Given the description of an element on the screen output the (x, y) to click on. 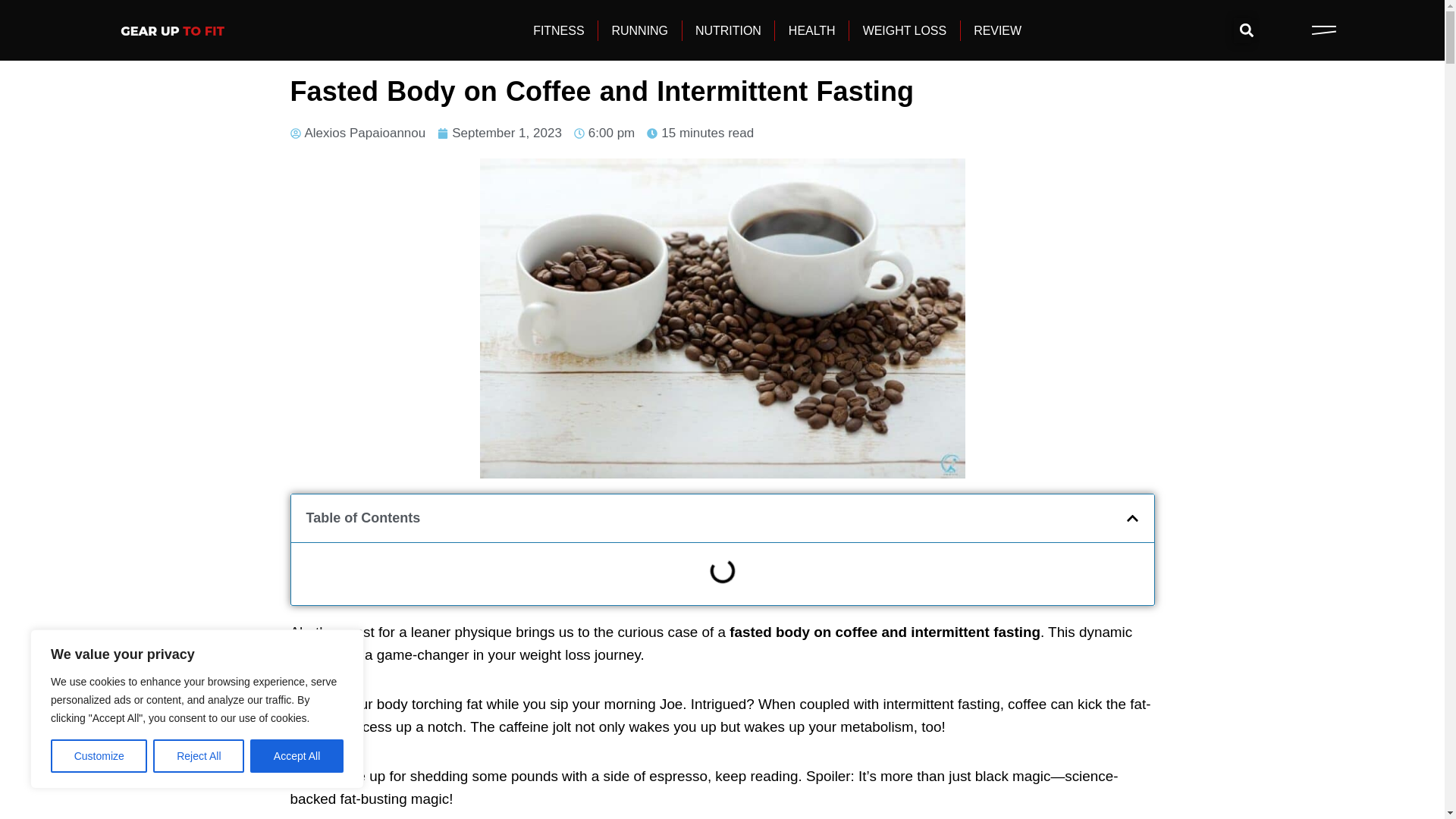
Accept All (296, 756)
WEIGHT LOSS (905, 29)
REVIEW (998, 29)
RUNNING (639, 29)
Alexios Papaioannou (357, 132)
Customize (98, 756)
NUTRITION (728, 29)
September 1, 2023 (500, 132)
HEALTH (812, 29)
FITNESS (557, 29)
Reject All (198, 756)
